Given the description of an element on the screen output the (x, y) to click on. 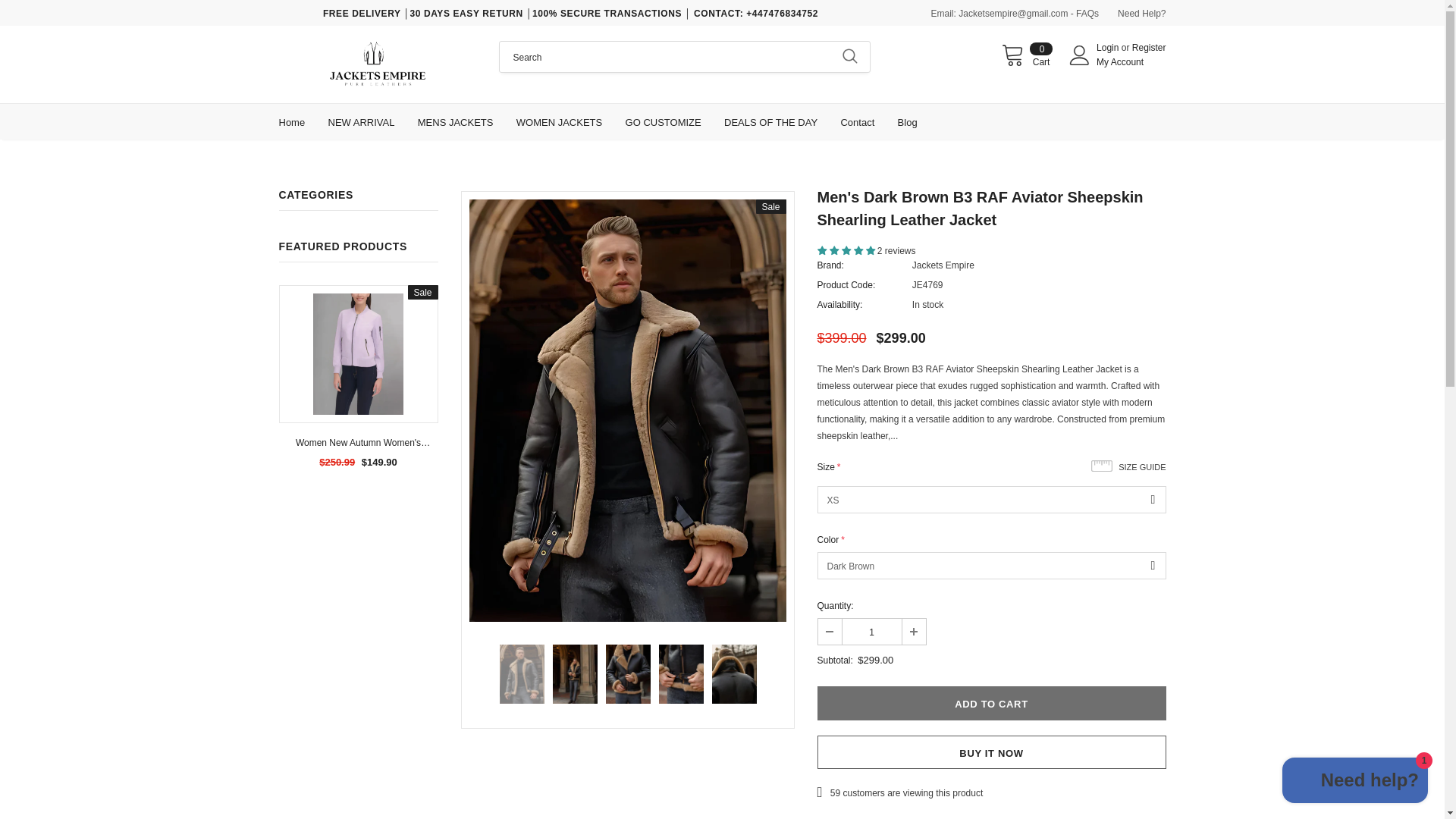
Login (1108, 47)
WOMEN JACKETS (559, 121)
Women New Autumn Women's Baseball Bomber Leather Jacket (358, 442)
Contact (857, 121)
Jackets Empire (943, 265)
Logo (377, 63)
1 (871, 631)
MENS JACKETS (455, 121)
Add to cart (1026, 55)
GO CUSTOMIZE (991, 703)
User Icon (663, 121)
Register (1079, 55)
Need Help? (1149, 47)
Cart (1142, 13)
